Given the description of an element on the screen output the (x, y) to click on. 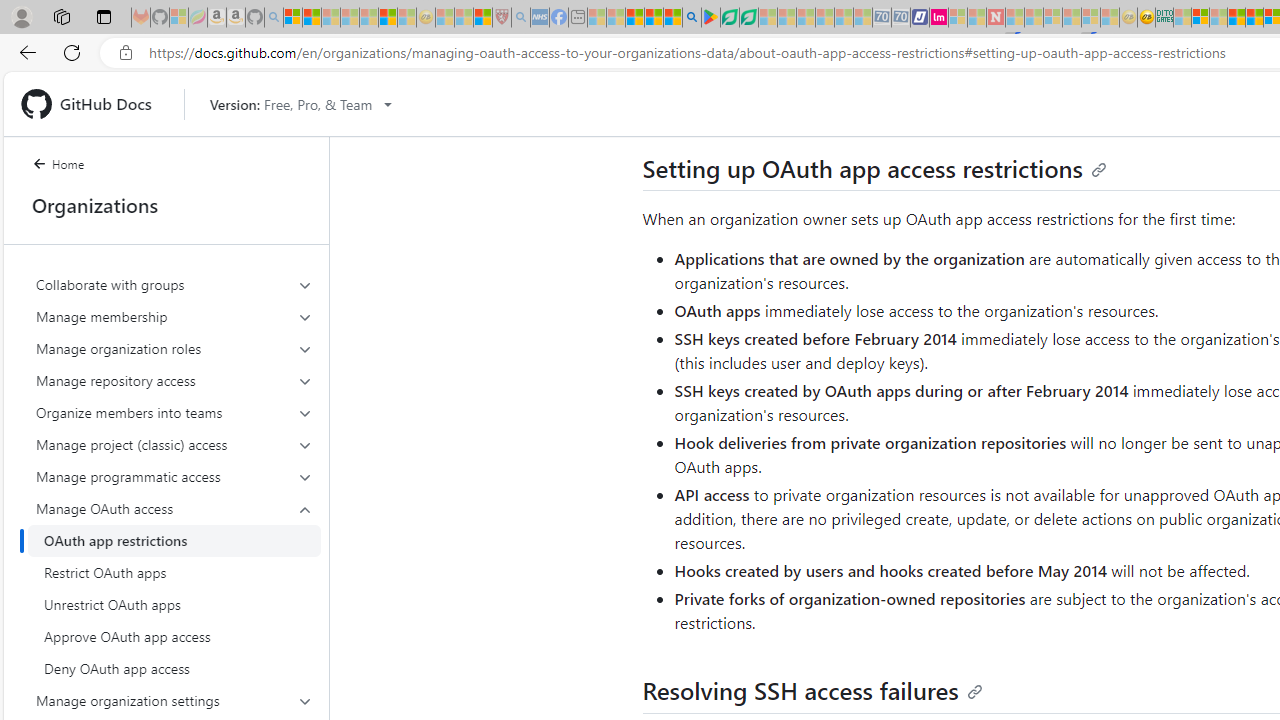
Terms of Use Agreement (729, 17)
Manage organization settings (174, 700)
Organize members into teams (174, 412)
Organizations (166, 205)
Bluey: Let's Play! - Apps on Google Play (710, 17)
Collaborate with groups (174, 284)
